Given the description of an element on the screen output the (x, y) to click on. 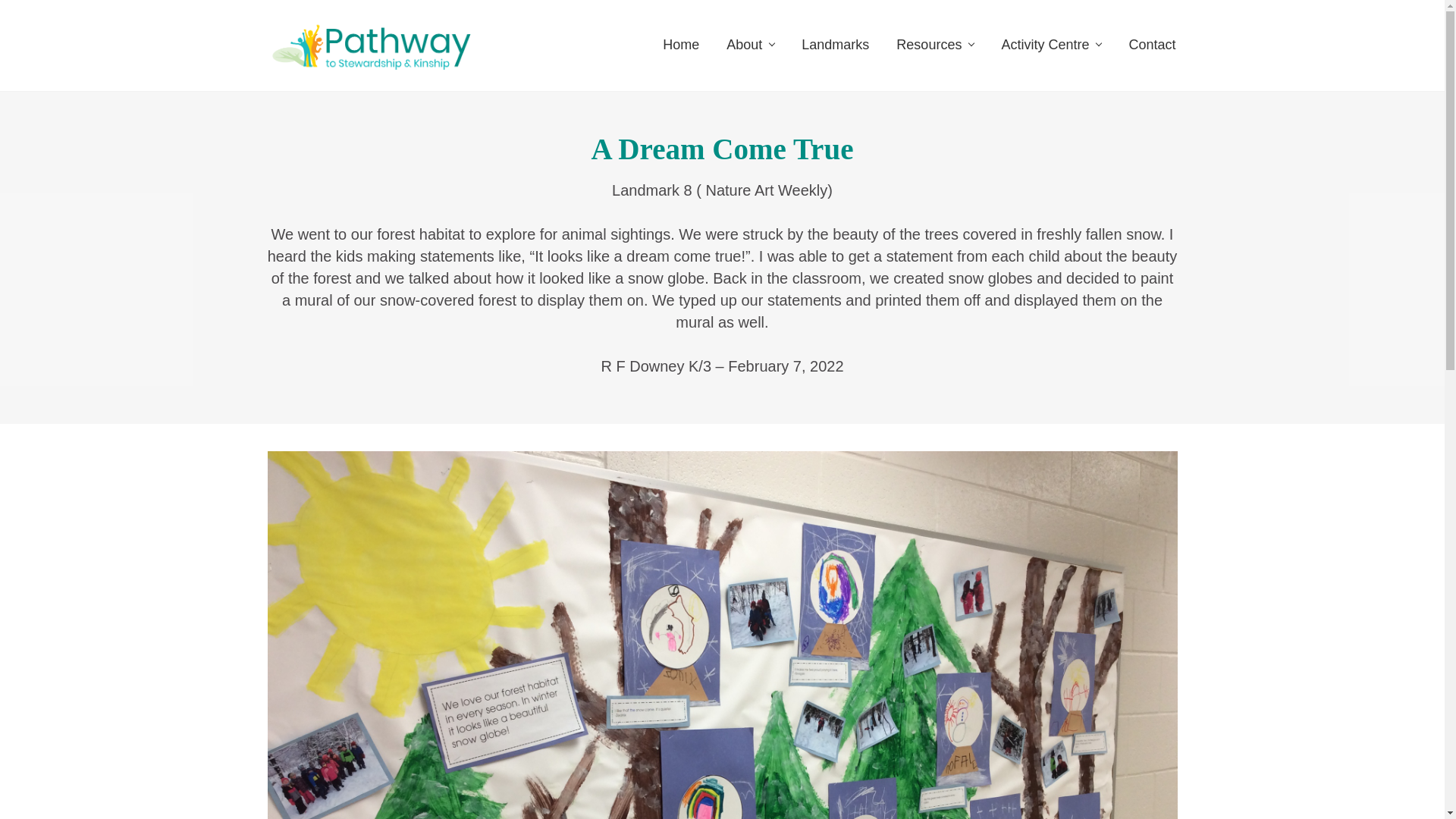
Resources (934, 44)
About (750, 44)
Home (680, 44)
Activity Centre (1050, 44)
Landmarks (834, 44)
